Given the description of an element on the screen output the (x, y) to click on. 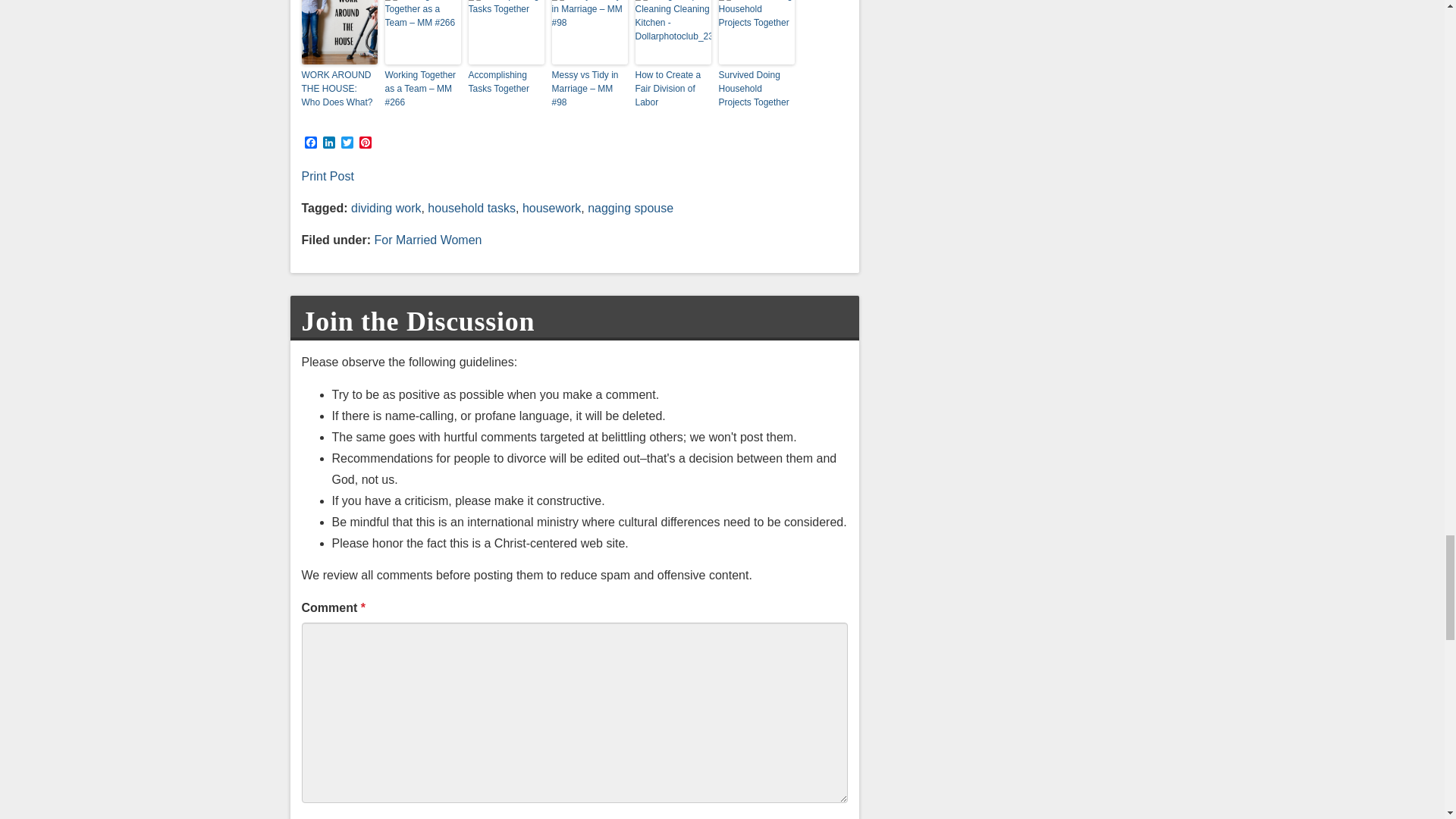
Pinterest (365, 143)
LinkedIn (328, 143)
Facebook (310, 143)
Twitter (346, 143)
